Given the description of an element on the screen output the (x, y) to click on. 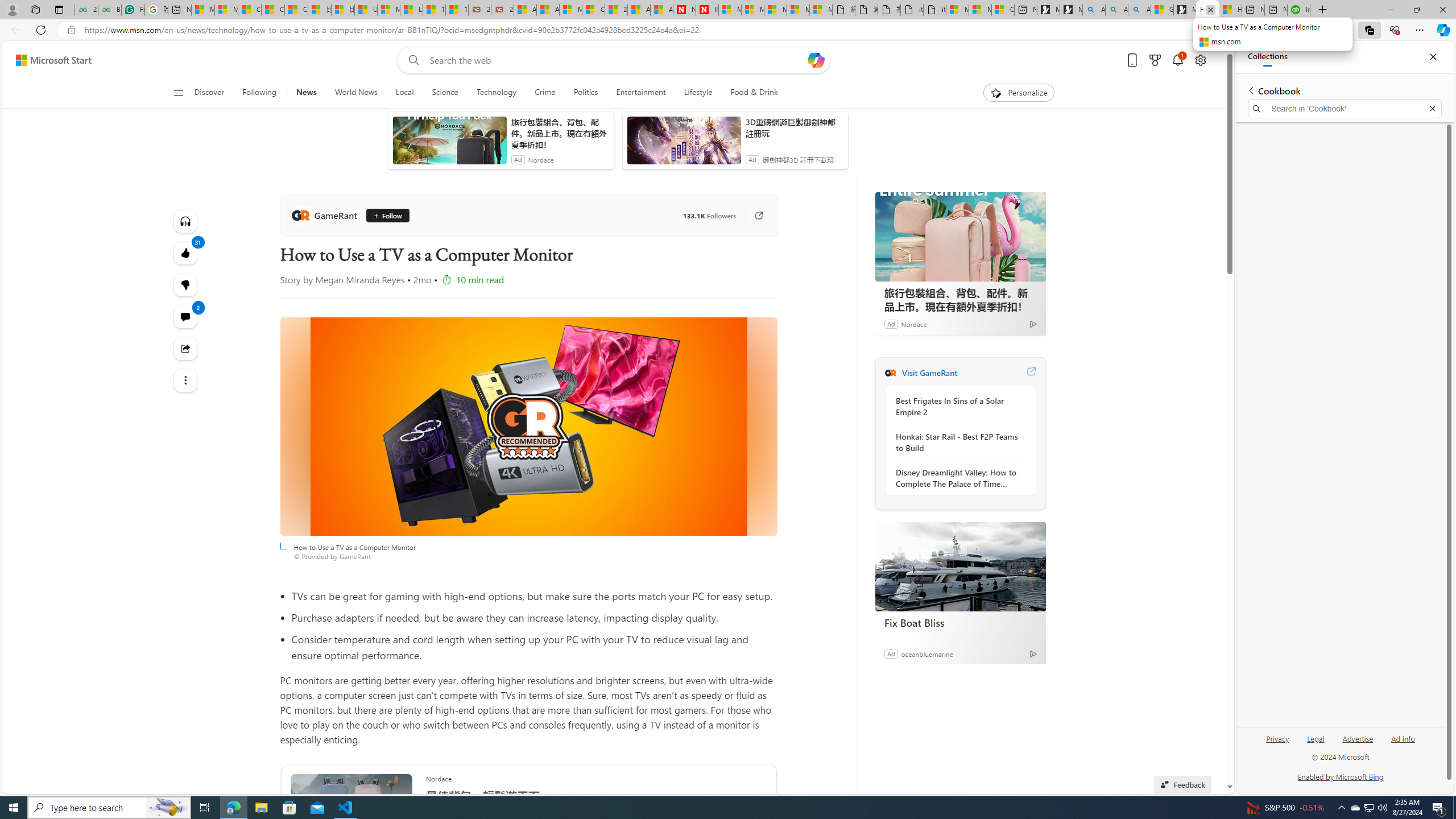
Crime (545, 92)
How to Use a TV as a Computer Monitor (528, 426)
Best Frigates In Sins of a Solar Empire 2 (957, 406)
Listen to this article (184, 220)
Exit search (1432, 108)
Alabama high school quarterback dies - Search Videos (1139, 9)
Enter your search term (617, 59)
itconcepthk.com/projector_solutions.mp4 (934, 9)
Back to list of collections (1250, 90)
